Given the description of an element on the screen output the (x, y) to click on. 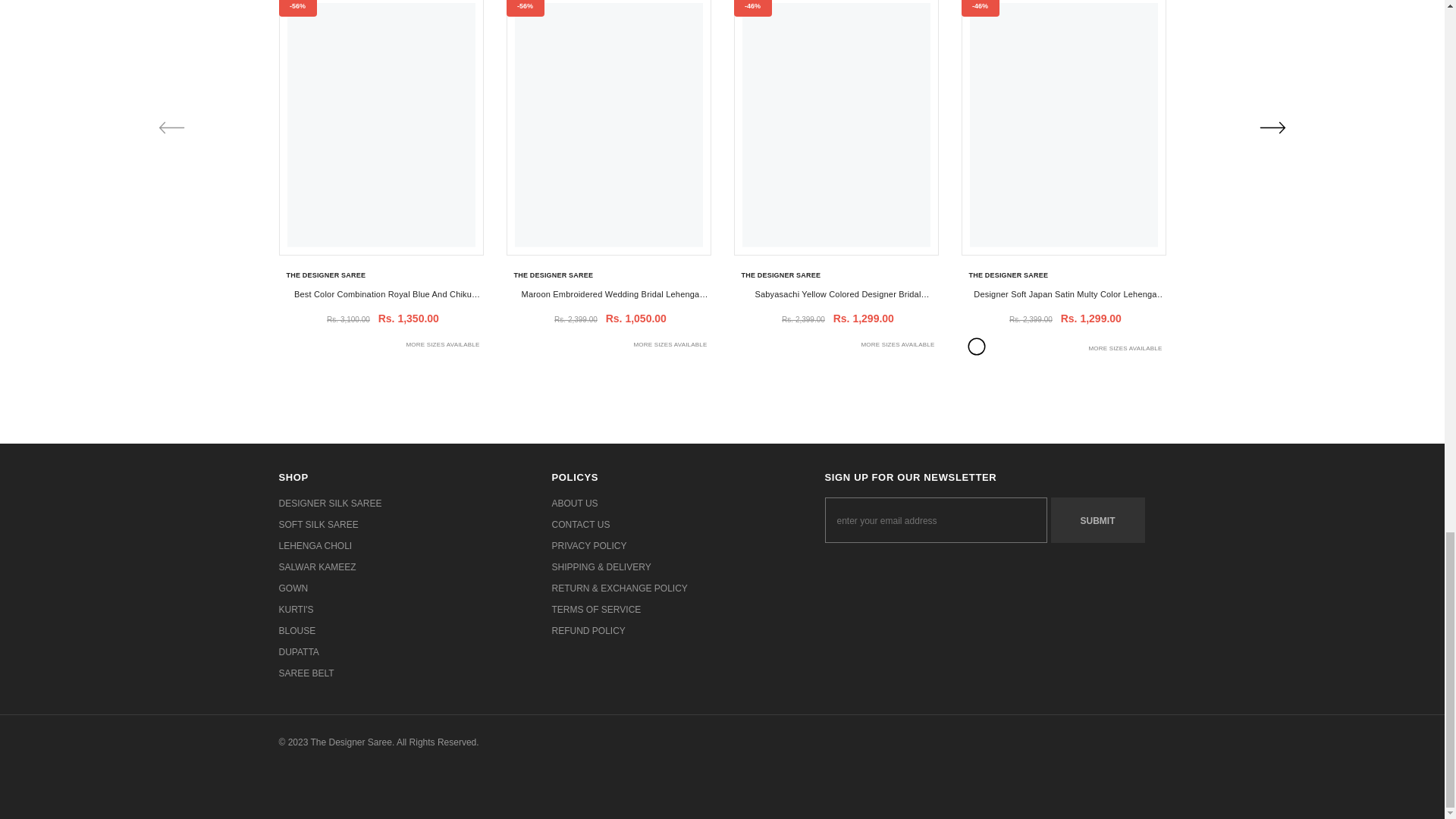
THE DESIGNER SAREE (326, 275)
THE DESIGNER SAREE (326, 275)
Submit (1097, 519)
